Given the description of an element on the screen output the (x, y) to click on. 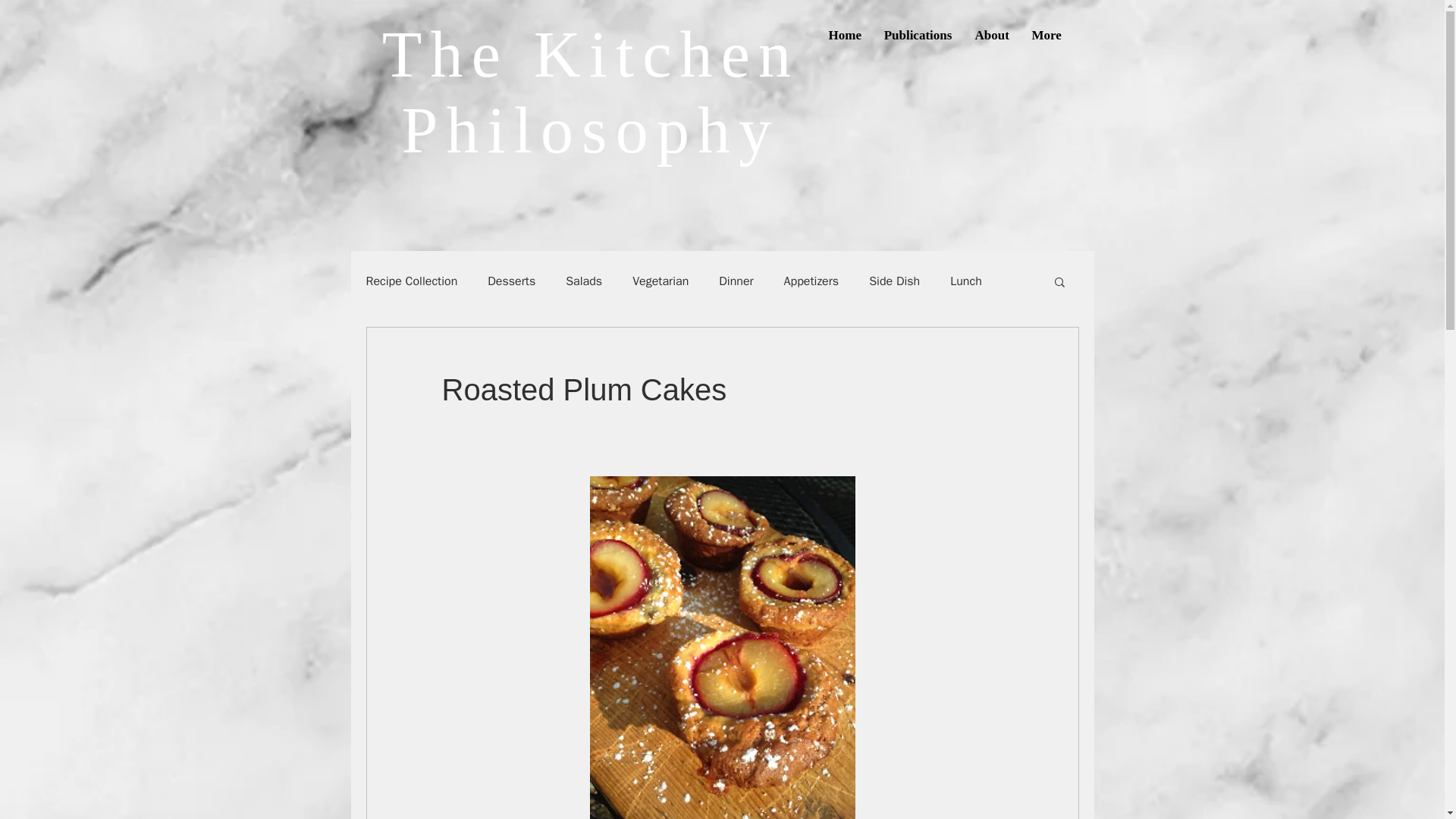
Publications (917, 35)
About (991, 35)
Dinner (735, 280)
Home (844, 35)
Salads (584, 280)
Appetizers (812, 280)
Vegetarian (659, 280)
Lunch (965, 280)
Recipe Collection (411, 280)
Side Dish (894, 280)
